Given the description of an element on the screen output the (x, y) to click on. 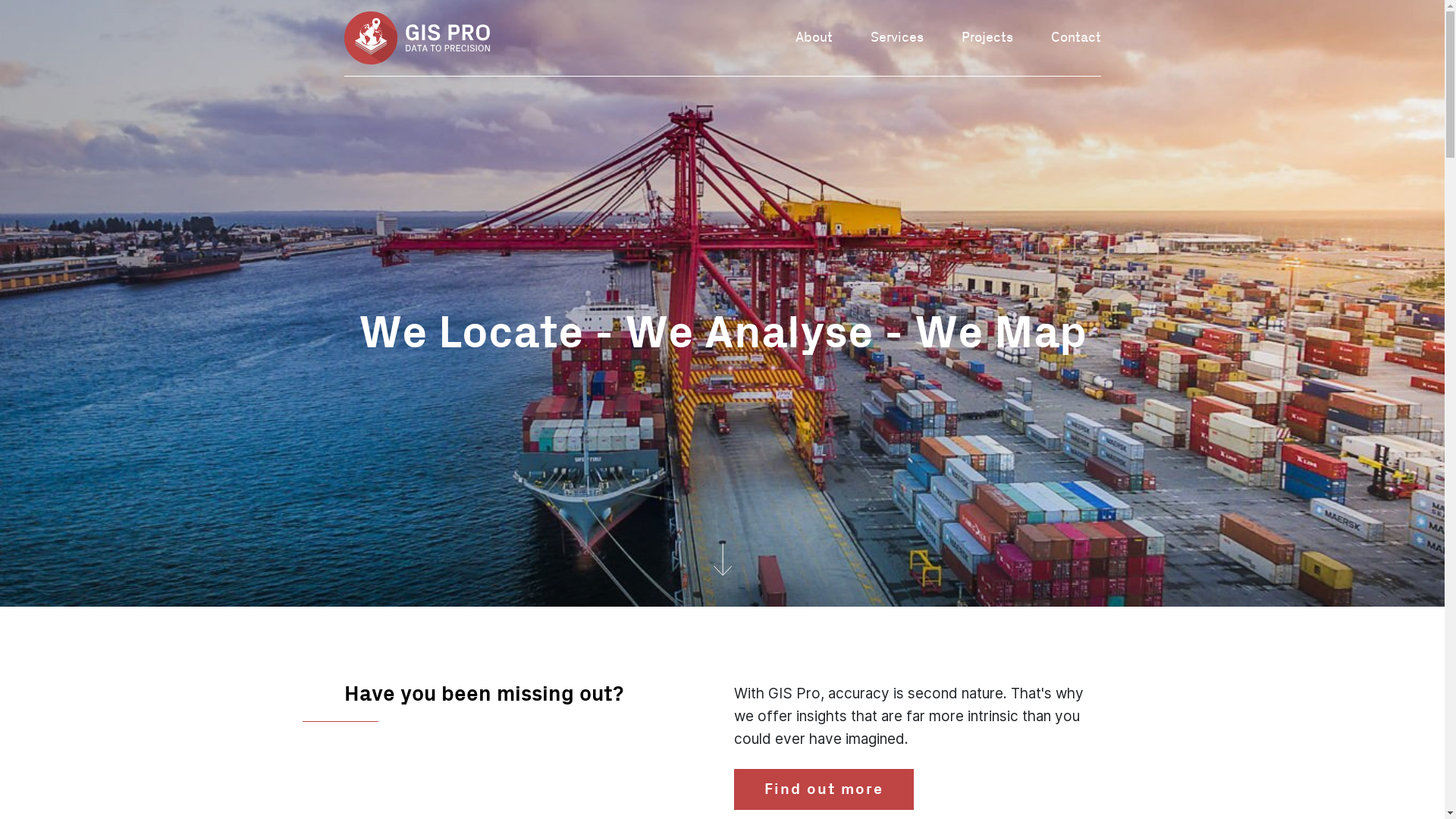
Contact Element type: text (1076, 37)
Projects Element type: text (987, 37)
Find out more Element type: text (823, 788)
Services Element type: text (896, 37)
About Element type: text (812, 37)
